Given the description of an element on the screen output the (x, y) to click on. 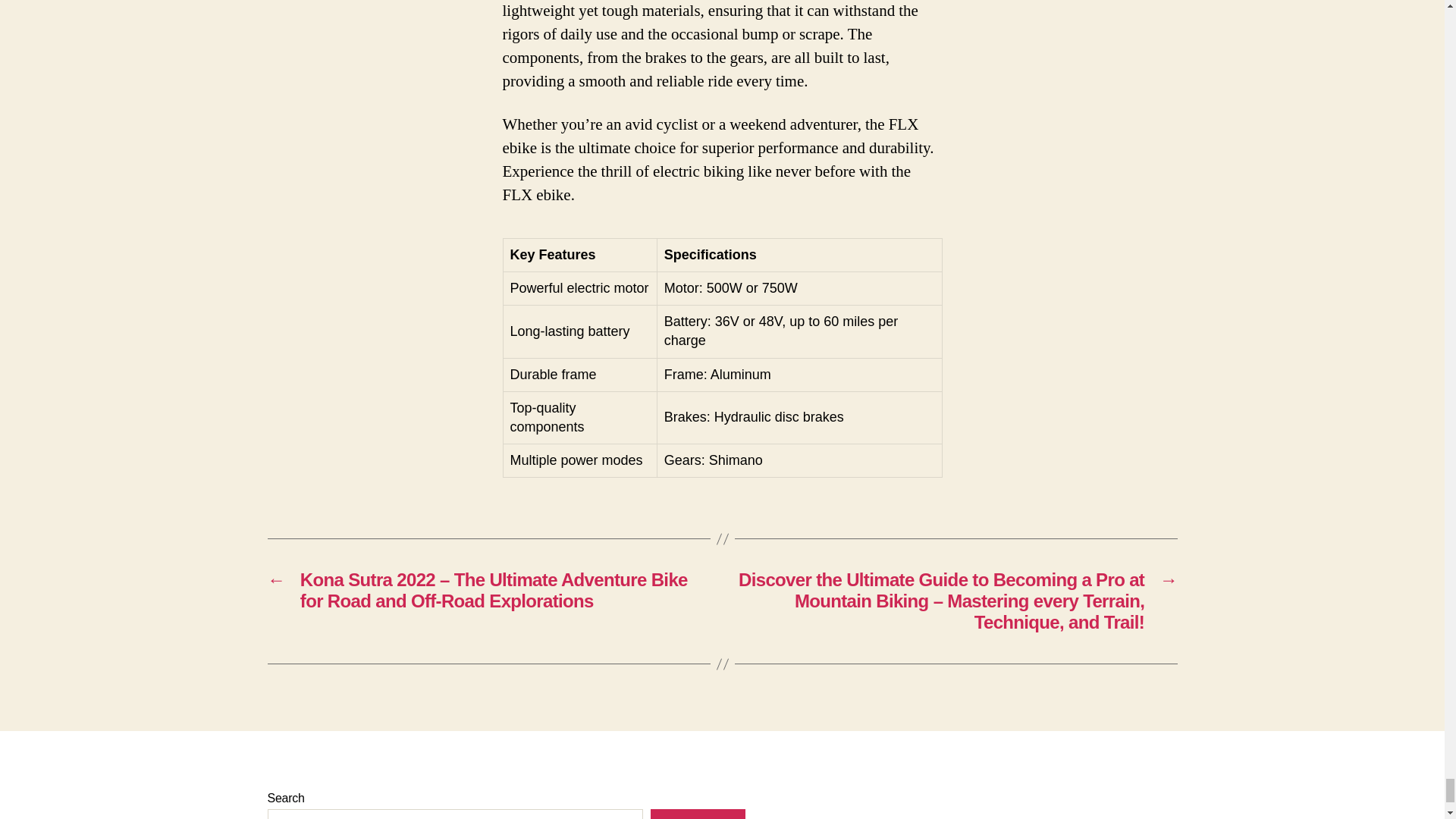
SEARCH (697, 814)
